Given the description of an element on the screen output the (x, y) to click on. 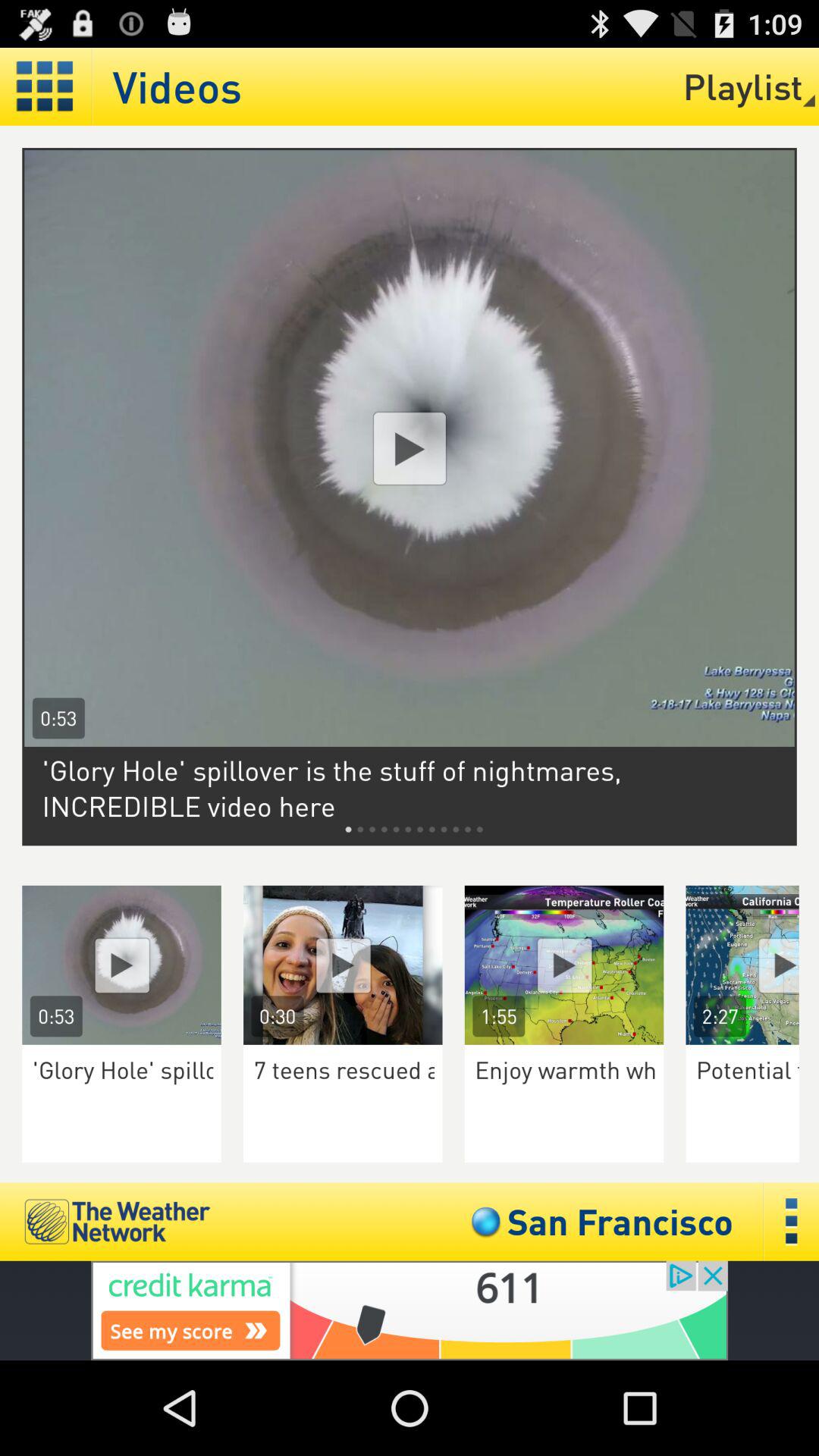
watch weather video (563, 964)
